Given the description of an element on the screen output the (x, y) to click on. 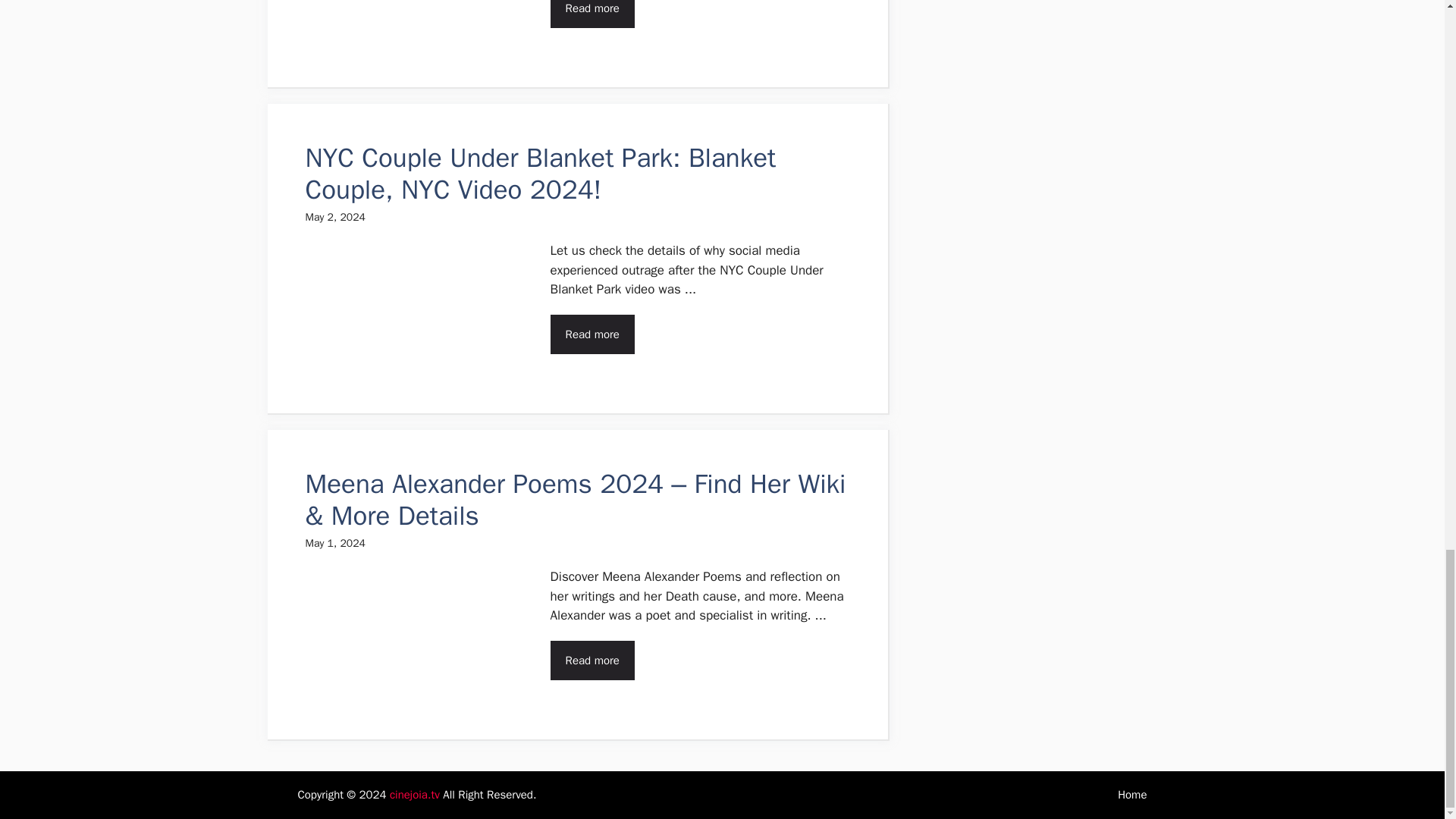
cinejoia.tv (414, 794)
Read more (592, 334)
Read more (592, 14)
Read more (592, 660)
Home (1132, 794)
